Given the description of an element on the screen output the (x, y) to click on. 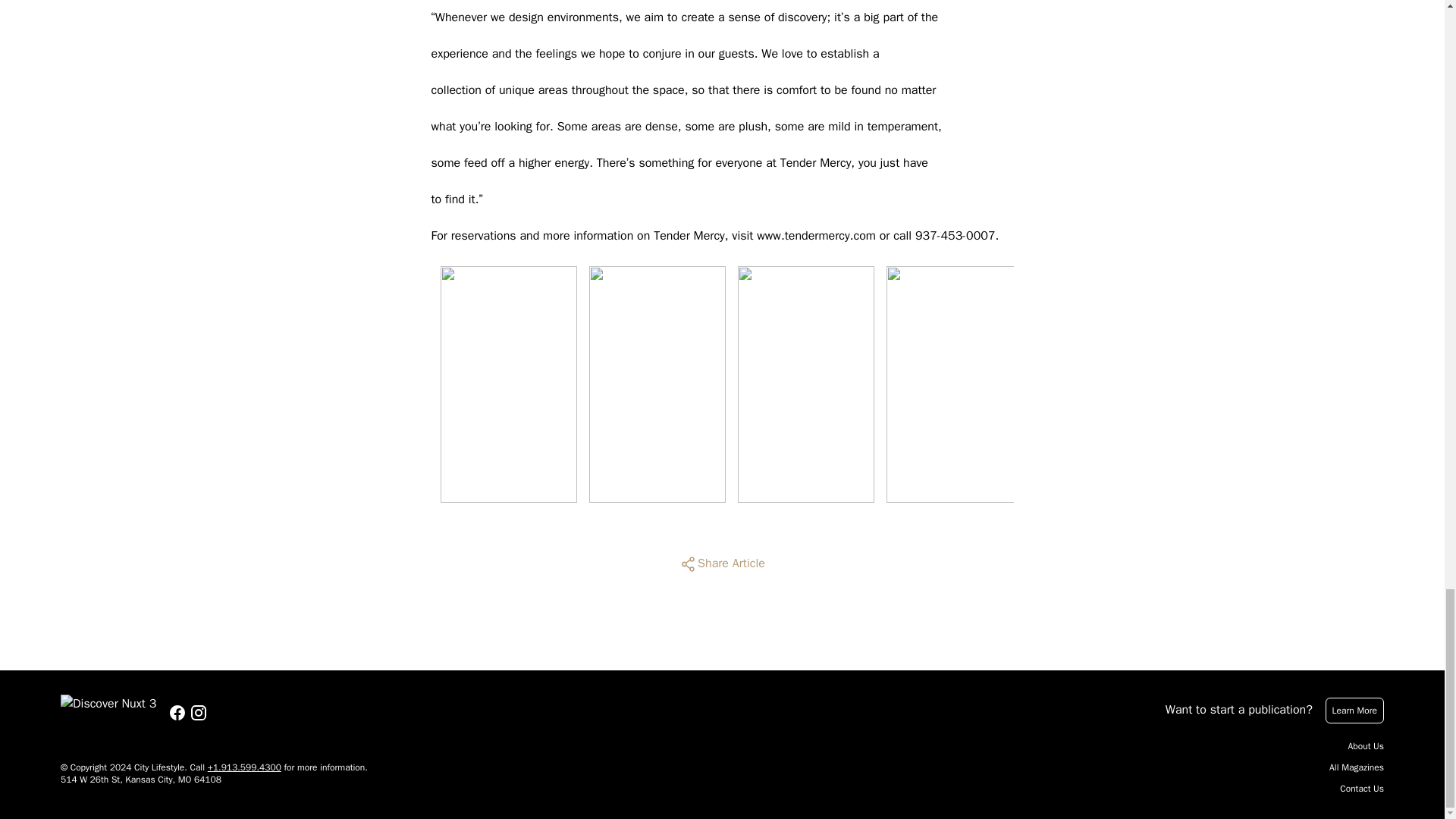
Share Article (722, 563)
Learn More (1354, 710)
About Us (1366, 746)
Contact Us (1361, 788)
All Magazines (1356, 767)
